Given the description of an element on the screen output the (x, y) to click on. 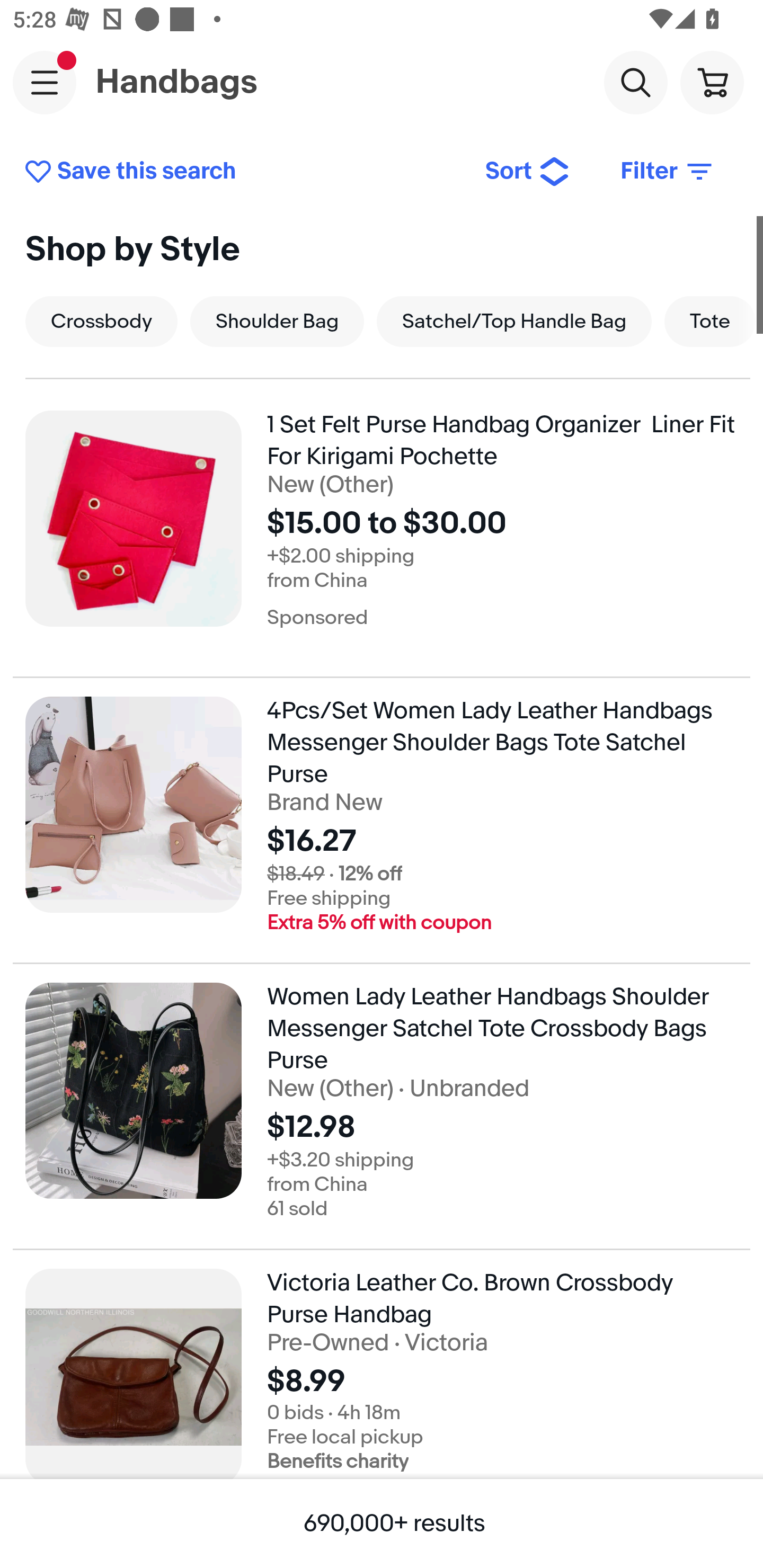
Main navigation, notification is pending, open (44, 82)
Search (635, 81)
Cart button shopping cart (711, 81)
Save this search (241, 171)
Sort (527, 171)
Filter (667, 171)
Crossbody Crossbody, Style (101, 321)
Shoulder Bag Shoulder Bag, Style (276, 321)
Tote Tote, Style (709, 321)
